Given the description of an element on the screen output the (x, y) to click on. 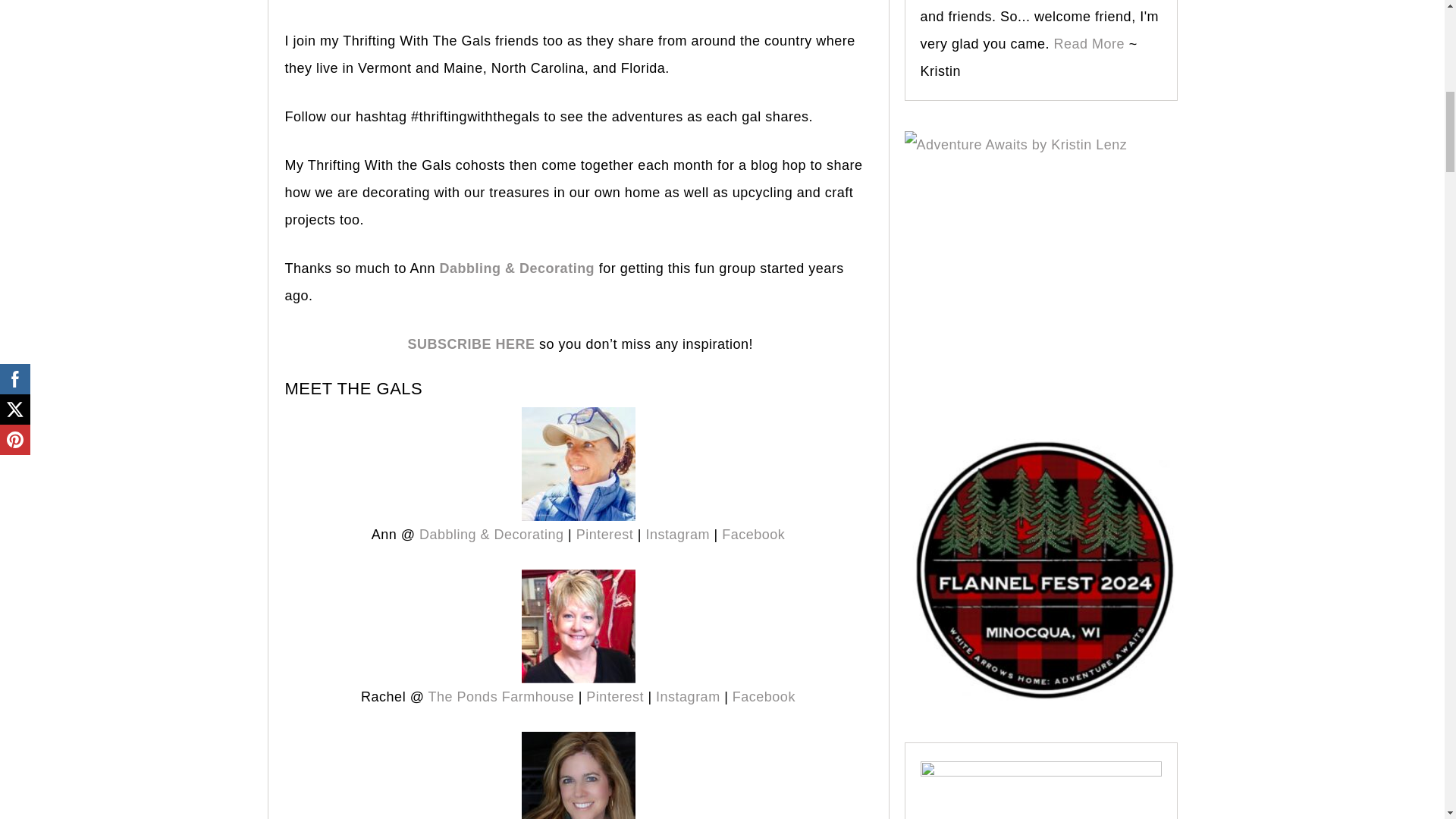
Instagram  (689, 696)
 Facebook (761, 696)
SUBSCRIBE HERE (470, 344)
Pinterest (604, 534)
Instagram (678, 534)
Facebook (753, 534)
The Ponds Farmhouse (501, 696)
Pinterest (614, 696)
